Given the description of an element on the screen output the (x, y) to click on. 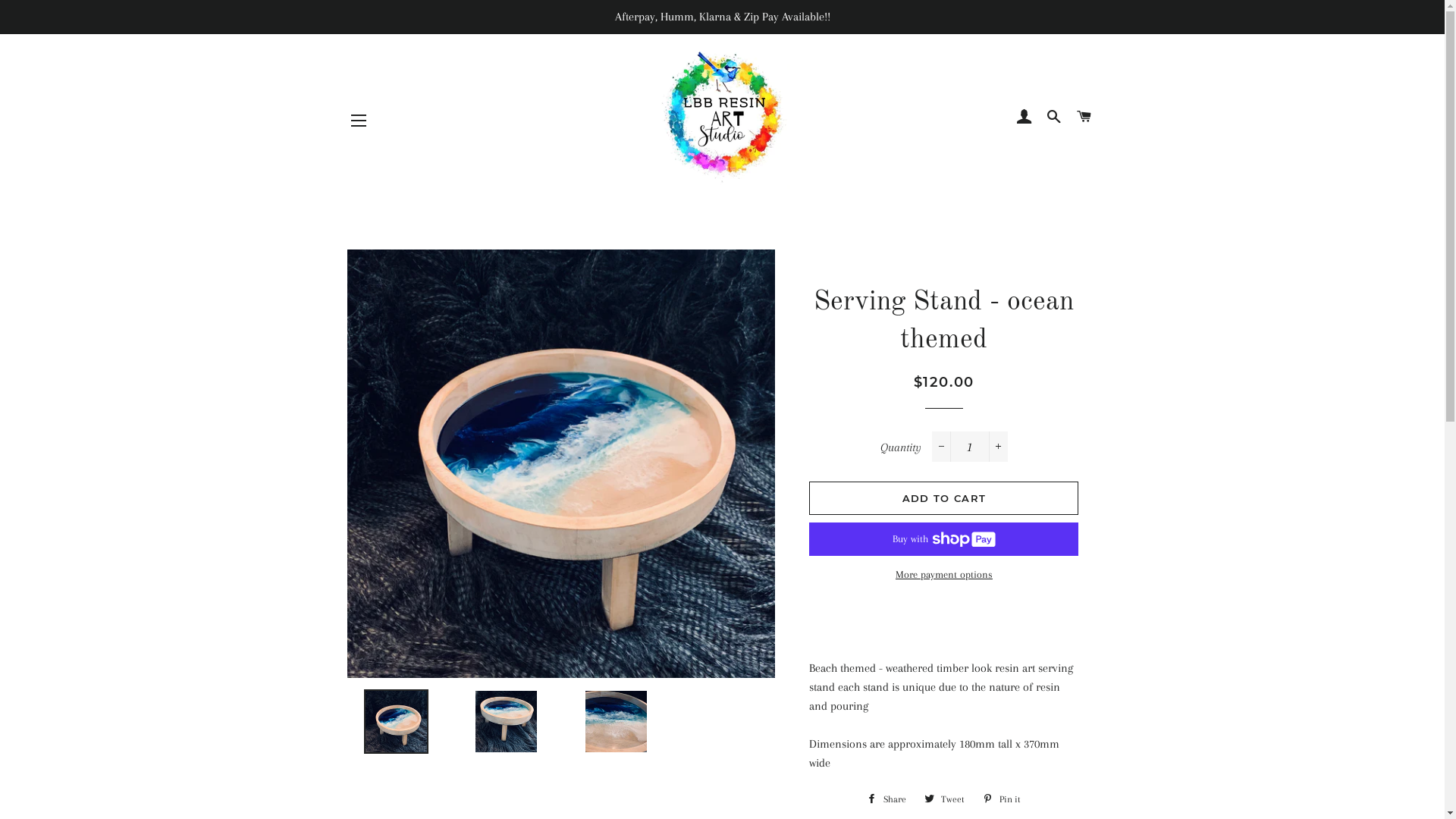
+ Element type: text (997, 446)
More payment options Element type: text (943, 574)
CART Element type: text (1083, 116)
Pin it
Pin on Pinterest Element type: text (1001, 798)
Tweet
Tweet on Twitter Element type: text (944, 798)
LOG IN Element type: text (1023, 116)
SITE NAVIGATION Element type: text (358, 120)
Share
Share on Facebook Element type: text (886, 798)
ADD TO CART Element type: text (943, 497)
SEARCH Element type: text (1054, 116)
